Given the description of an element on the screen output the (x, y) to click on. 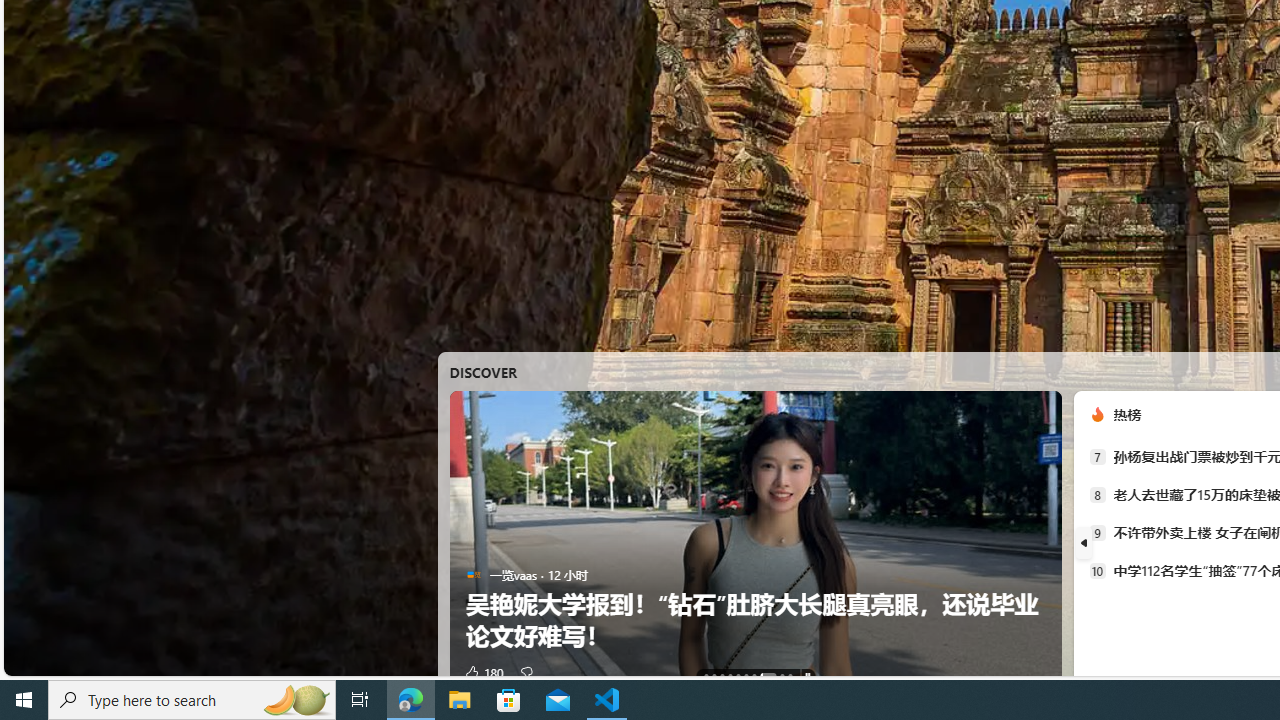
AutomationID: tab-5 (746, 675)
AutomationID: tab-4 (737, 675)
AutomationID: tab-7 (767, 675)
AutomationID: tab-1 (714, 675)
AutomationID: tab-9 (789, 675)
AutomationID: tab-0 (705, 675)
AutomationID: tab-3 (729, 675)
